Given the description of an element on the screen output the (x, y) to click on. 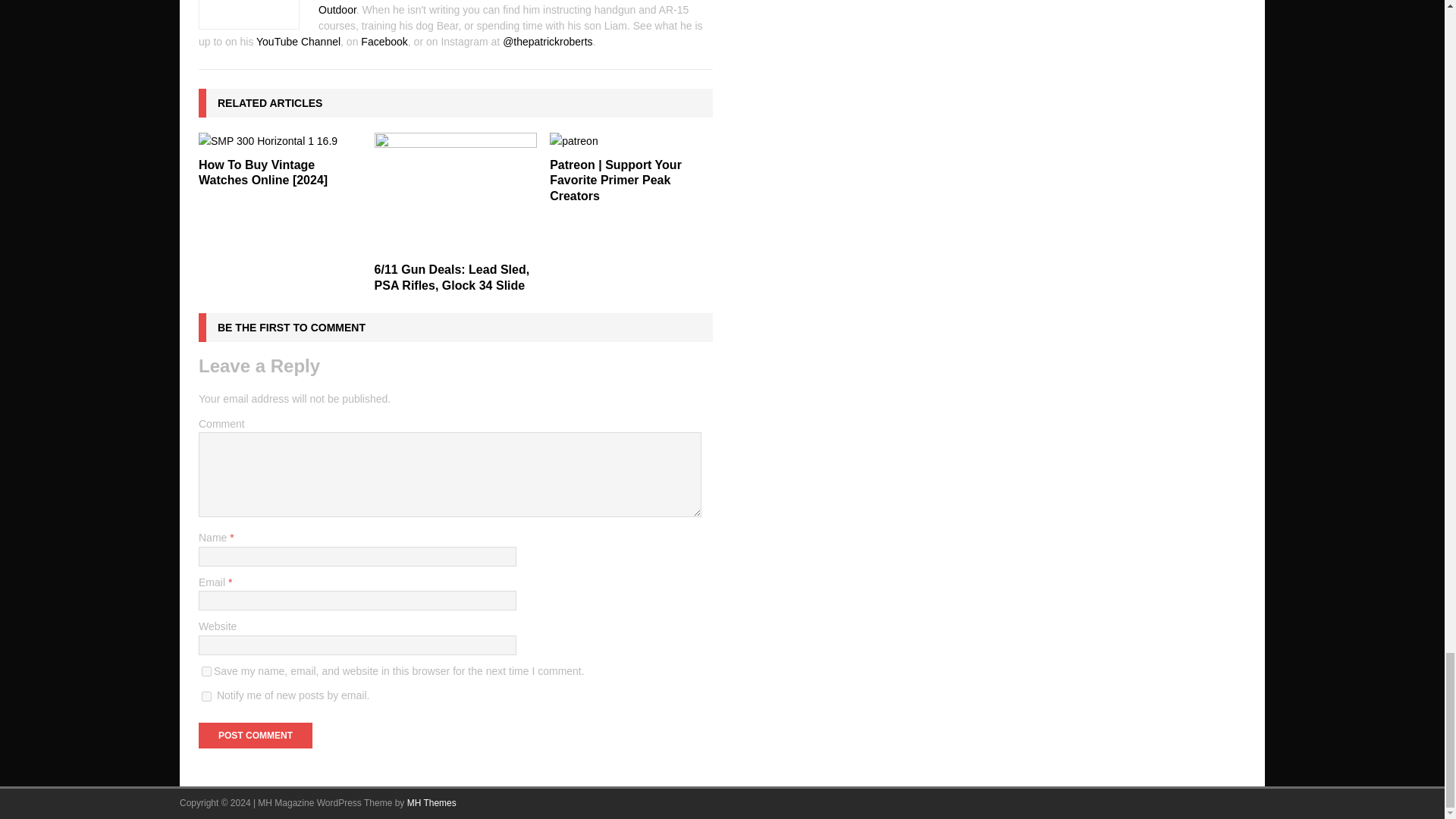
Post Comment (255, 735)
yes (206, 671)
subscribe (206, 696)
